Given the description of an element on the screen output the (x, y) to click on. 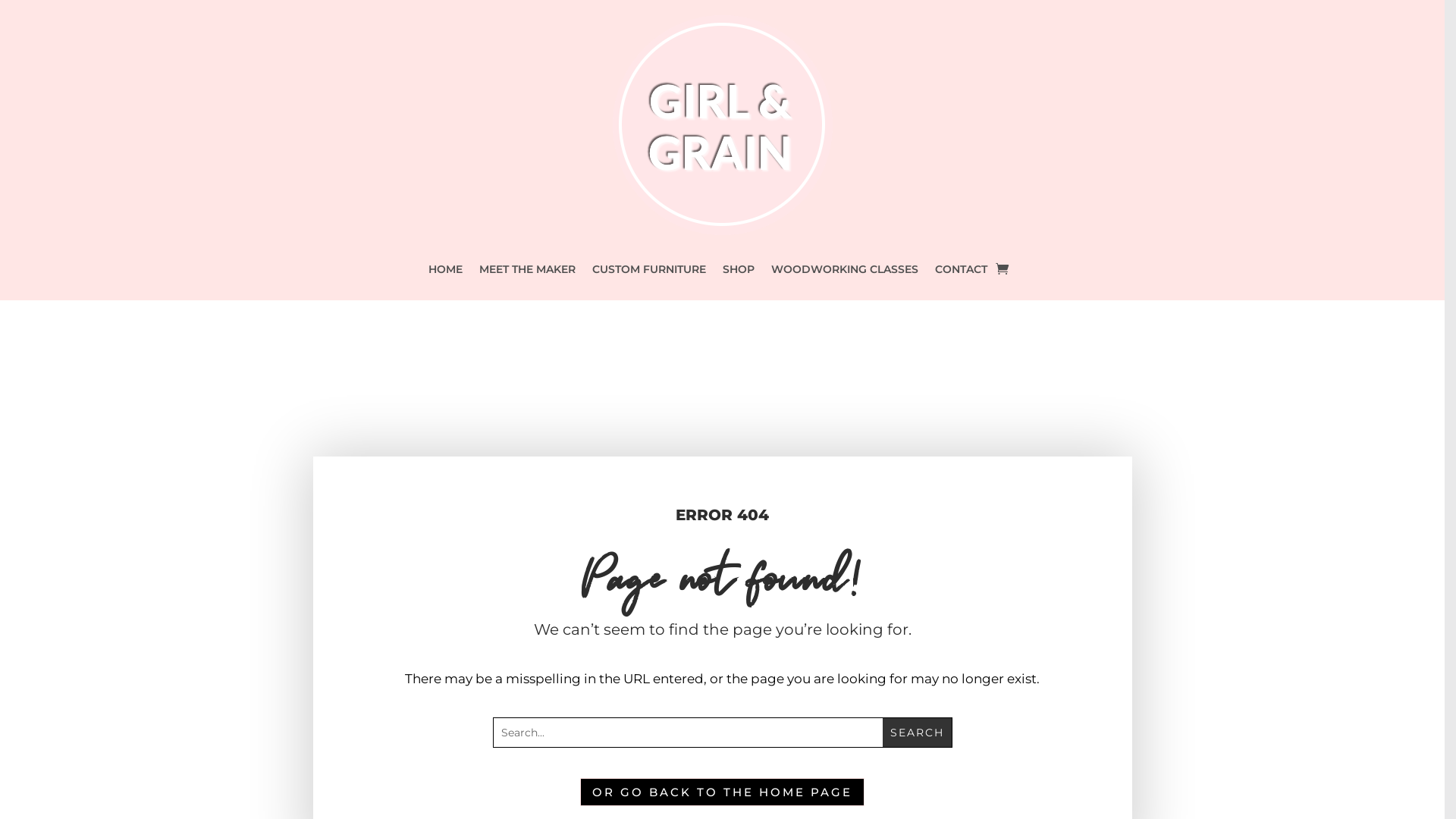
SHOP Element type: text (737, 272)
CUSTOM FURNITURE Element type: text (648, 272)
Search Element type: text (916, 732)
MEET THE MAKER Element type: text (527, 272)
WOODWORKING CLASSES Element type: text (843, 272)
OR GO BACK TO THE HOME PAGE Element type: text (722, 792)
HOME Element type: text (444, 272)
CONTACT Element type: text (960, 272)
